Given the description of an element on the screen output the (x, y) to click on. 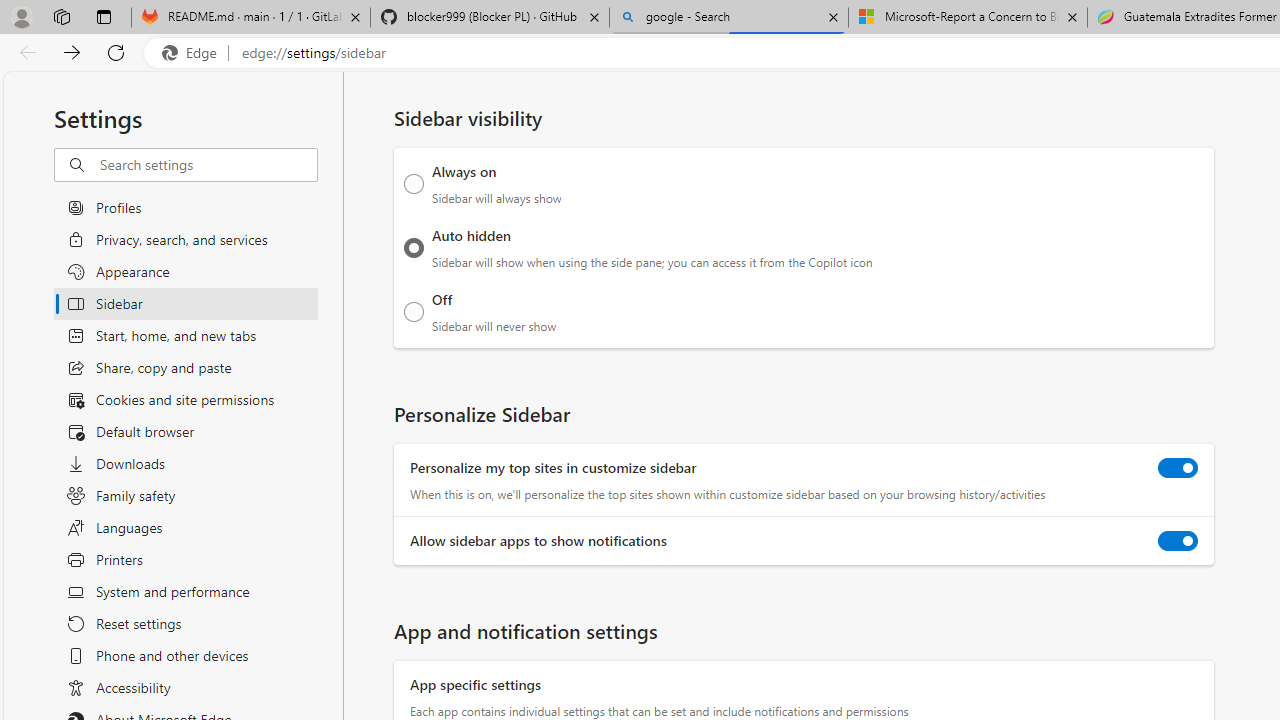
Search settings (207, 165)
Off Sidebar will never show (413, 311)
Allow sidebar apps to show notifications (1178, 540)
Always on Sidebar will always show (413, 183)
Edge (194, 53)
